Given the description of an element on the screen output the (x, y) to click on. 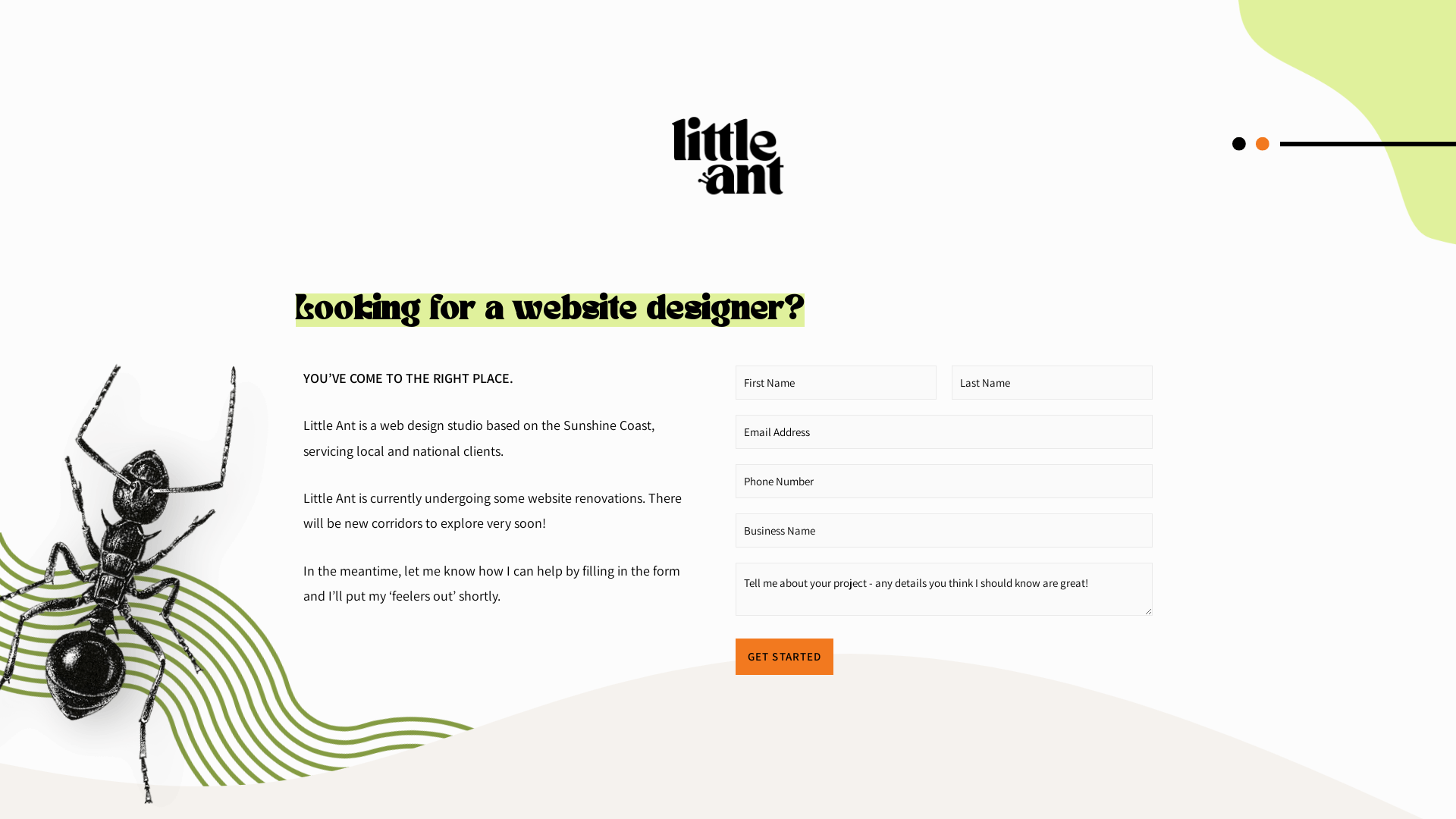
GET STARTED Element type: text (784, 656)
